Given the description of an element on the screen output the (x, y) to click on. 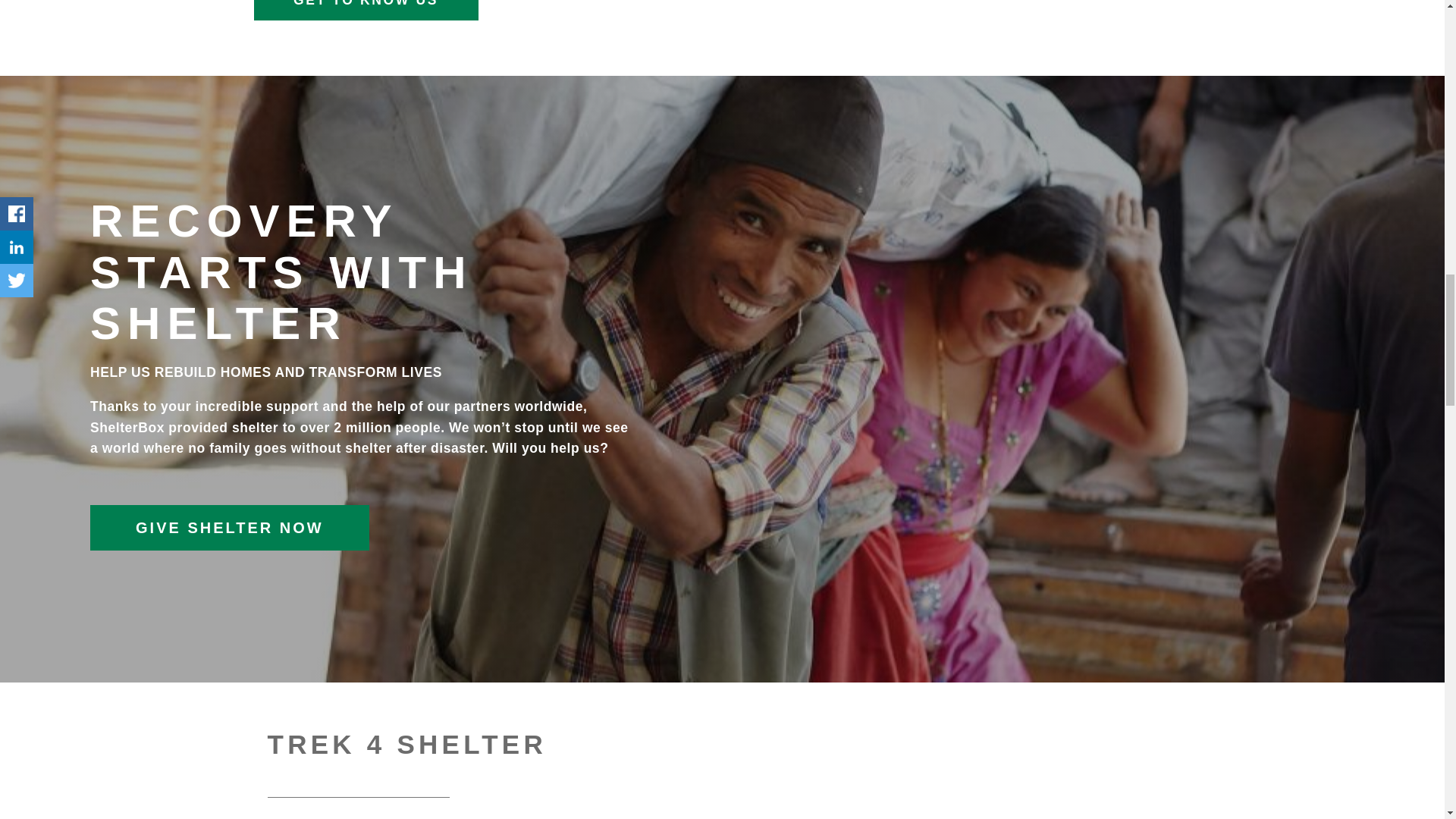
GET TO KNOW US (365, 10)
GIVE SHELTER NOW (229, 527)
